Given the description of an element on the screen output the (x, y) to click on. 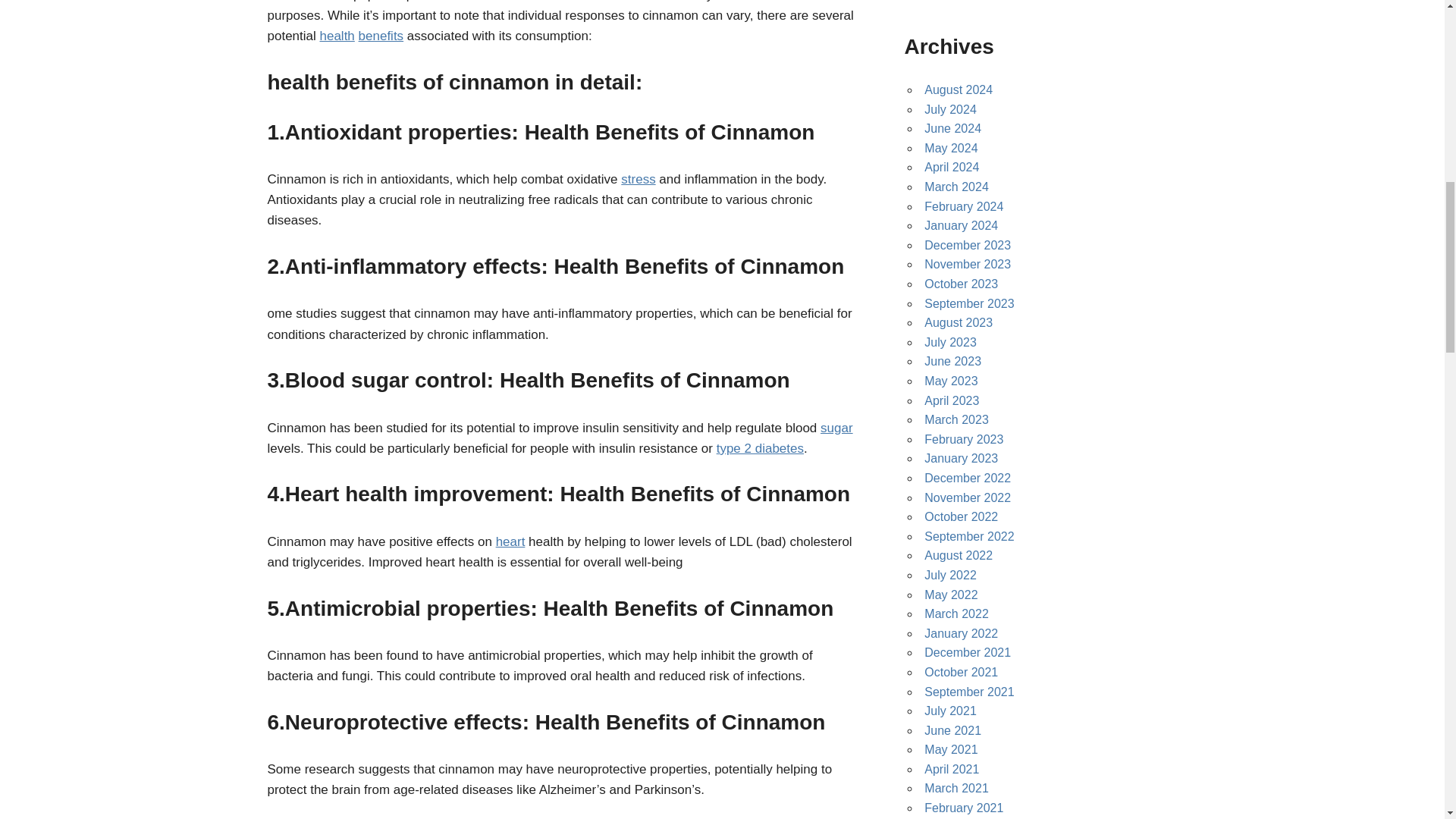
type 2 diabetes (759, 448)
benefits (381, 35)
heart (510, 541)
stress (638, 178)
health (337, 35)
sugar (837, 427)
